Given the description of an element on the screen output the (x, y) to click on. 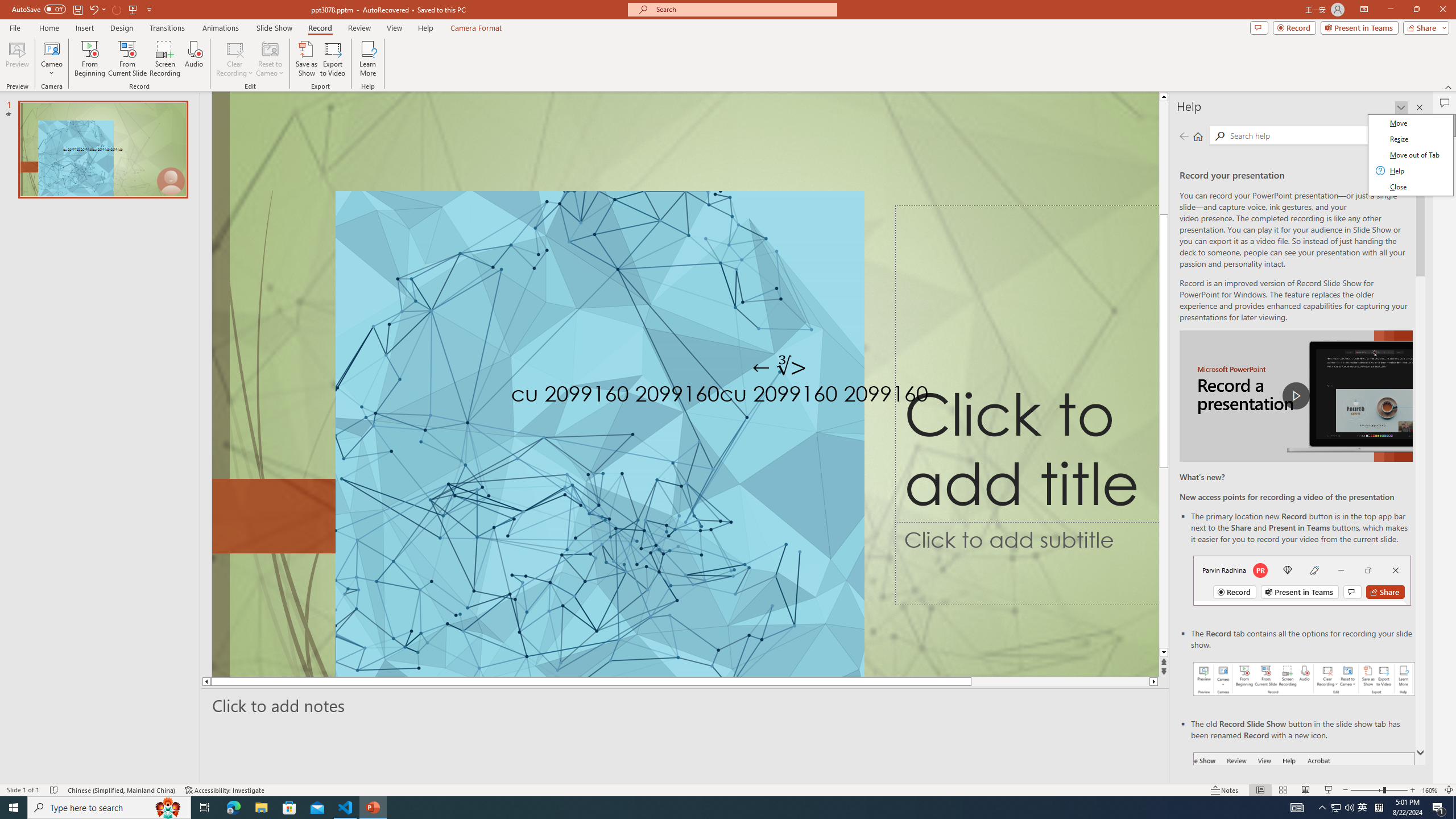
Previous page (1183, 136)
TextBox 61 (790, 396)
Class: Net UI Tool Window (1410, 155)
